Given the description of an element on the screen output the (x, y) to click on. 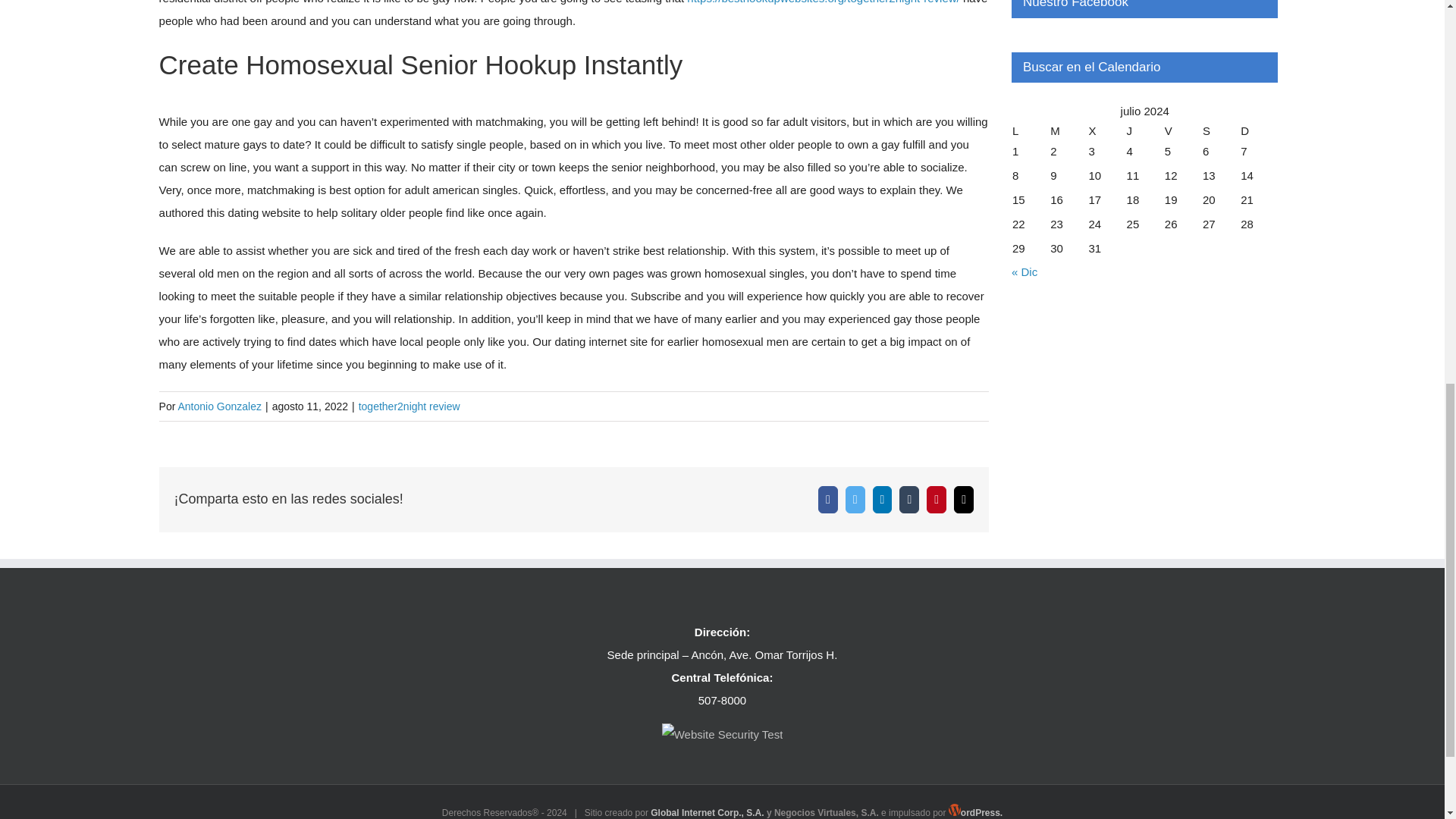
Twitter (854, 499)
Antonio Gonzalez (219, 406)
Facebook (828, 499)
Entradas de Antonio Gonzalez (219, 406)
Tumblr (908, 499)
ordPress. (976, 812)
Pinterest (936, 499)
together2night review (409, 406)
LinkedIn (882, 499)
domingo (1259, 130)
jueves (1144, 130)
Global Internet Corp., S.A. (706, 812)
martes (1068, 130)
lunes (1030, 130)
viernes (1182, 130)
